Given the description of an element on the screen output the (x, y) to click on. 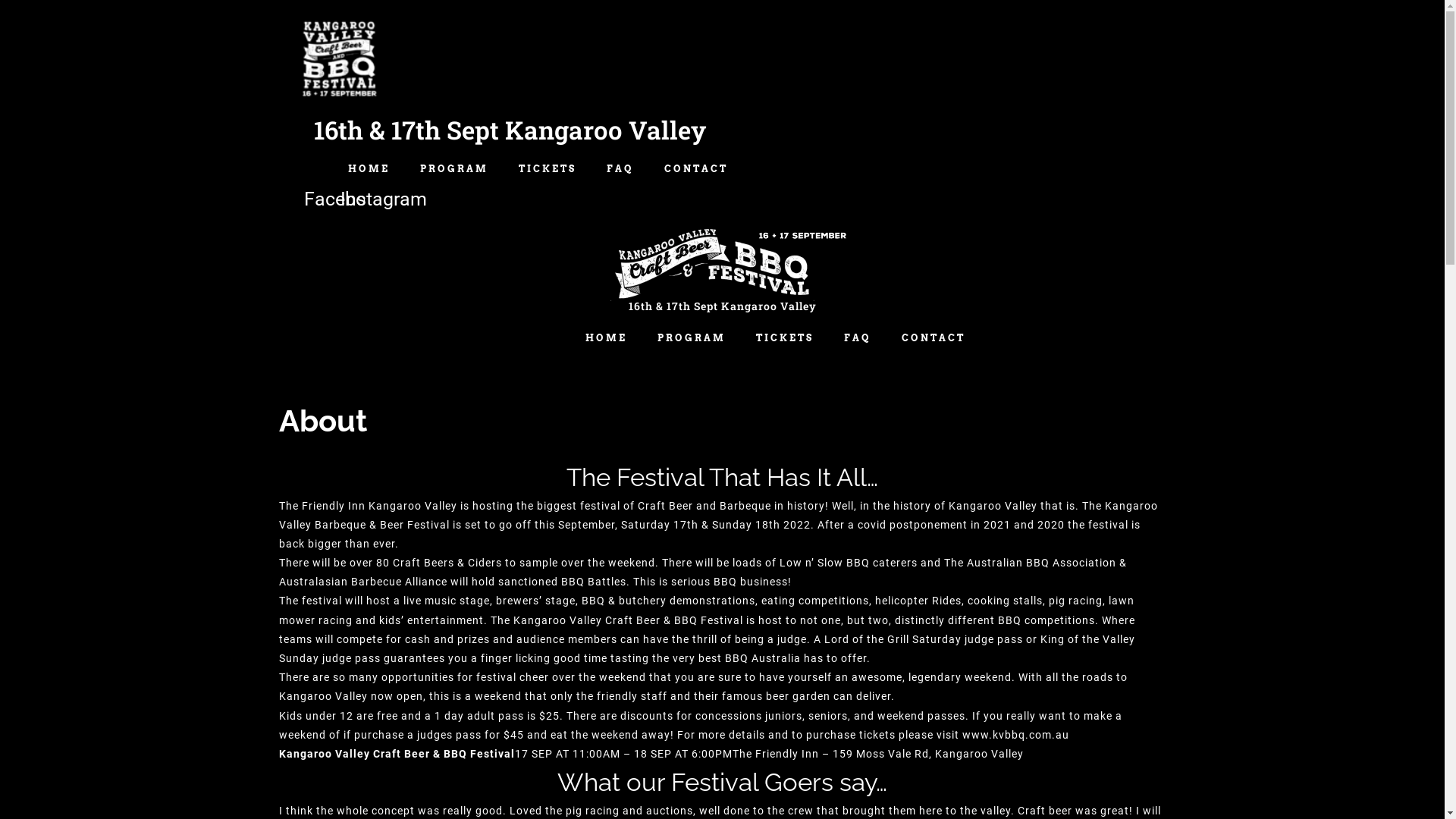
kv-bbq-250-x-250.png Element type: hover (338, 60)
FAQ Element type: text (620, 168)
TICKETS Element type: text (784, 337)
FAQ Element type: text (857, 337)
TICKETS Element type: text (547, 168)
PROGRAM Element type: text (454, 168)
Instagram Element type: text (382, 198)
HOME Element type: text (605, 337)
CONTACT Element type: text (933, 337)
www.kvbbq.com.au Element type: text (1014, 734)
HOME Element type: text (368, 168)
PROGRAM Element type: text (691, 337)
CONTACT Element type: text (695, 168)
Facebook Element type: text (345, 198)
